Given the description of an element on the screen output the (x, y) to click on. 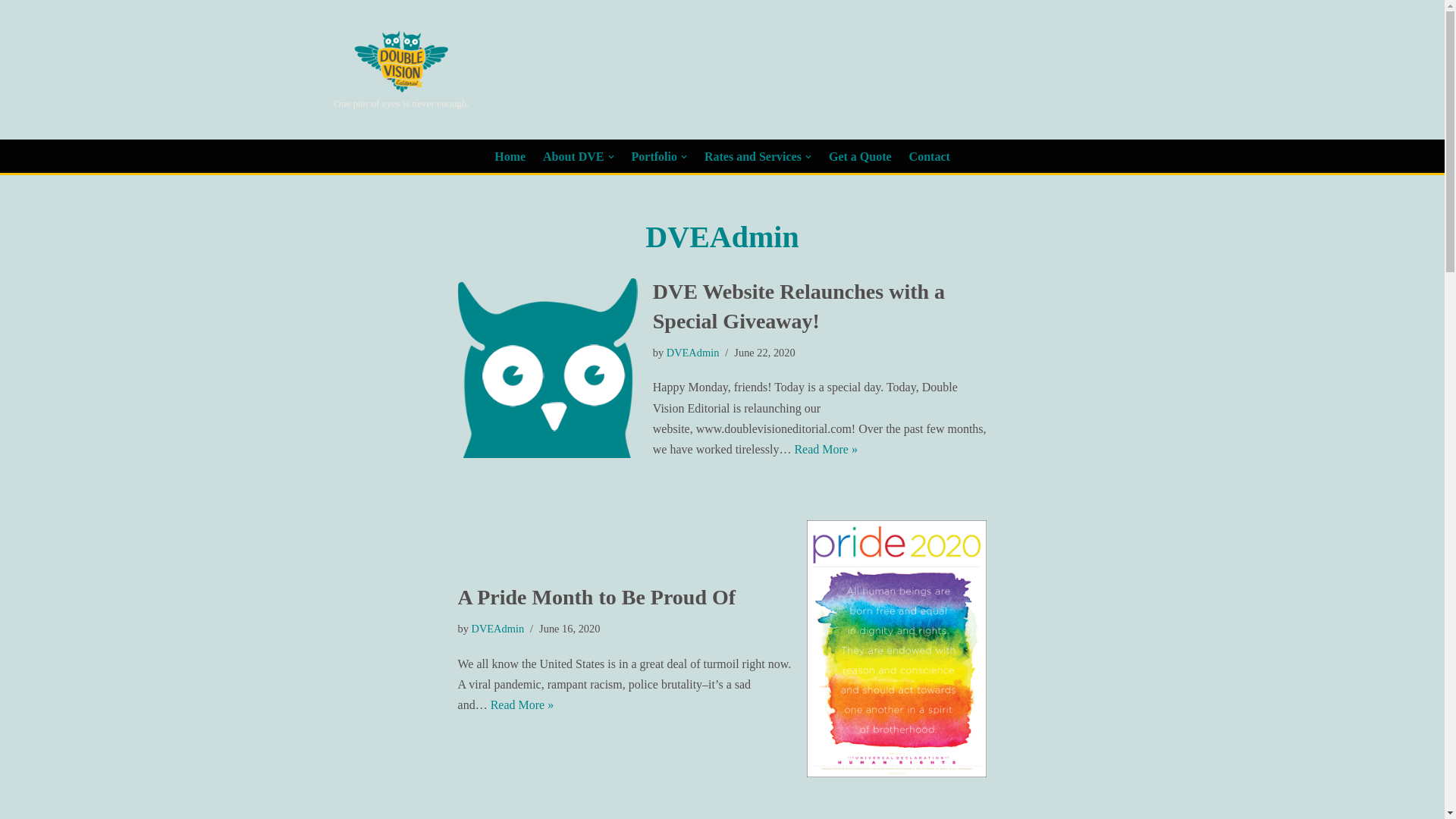
Portfolio (659, 157)
Home (510, 157)
Rates and Services (757, 157)
Posts by DVEAdmin (497, 628)
Contact (929, 157)
Posts by DVEAdmin (692, 352)
Skip to content (11, 31)
About DVE (577, 157)
Double Vision Editorial (400, 70)
One pair of eyes is never enough. (400, 70)
